Given the description of an element on the screen output the (x, y) to click on. 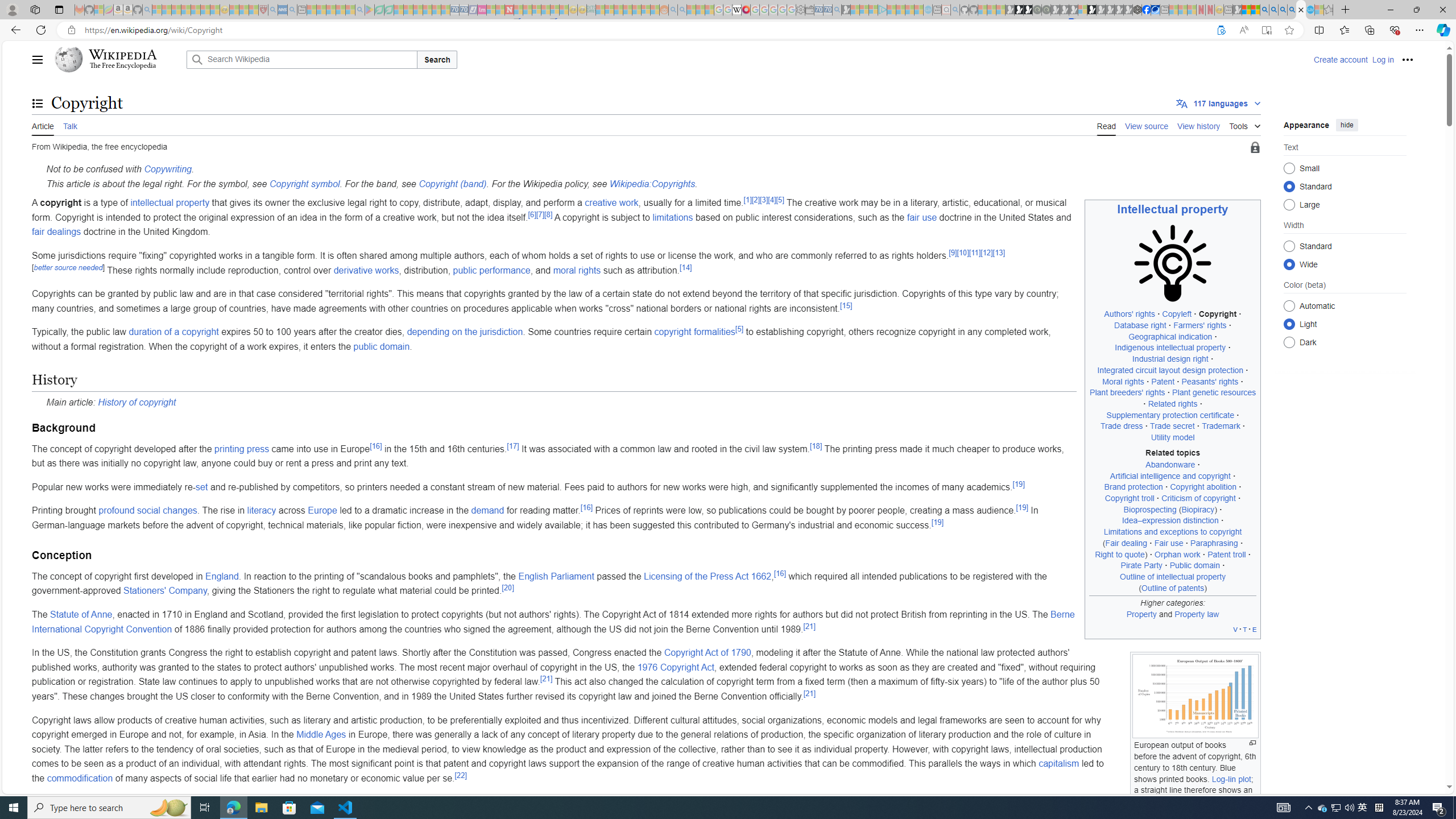
Integrated circuit layout design protection (1170, 370)
utah sues federal government - Search - Sleeping (291, 9)
Google Chrome Internet Browser Download - Search Images (1291, 9)
Microsoft account | Privacy - Sleeping (872, 9)
Latest Politics News & Archive | Newsweek.com - Sleeping (508, 9)
Pets - MSN - Sleeping (340, 9)
list of asthma inhalers uk - Search - Sleeping (272, 9)
copyright formalities (694, 331)
set (201, 486)
Support Wikipedia? (1220, 29)
